Given the description of an element on the screen output the (x, y) to click on. 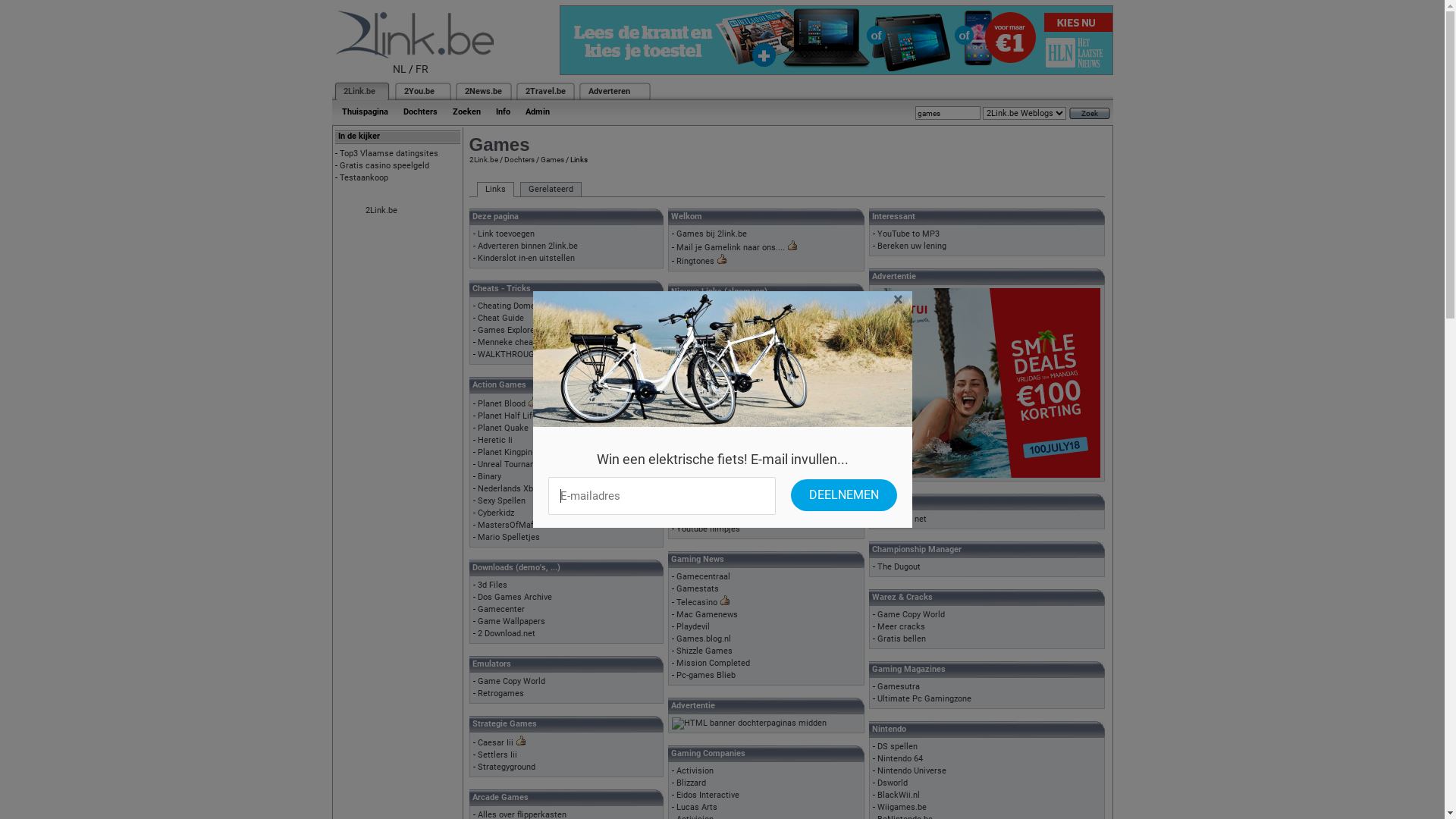
FR Element type: text (421, 68)
Games downloaden Element type: text (713, 393)
Binary Element type: text (489, 476)
Games bij 2link.be Element type: text (711, 233)
Speel Spelletjes.nl Element type: text (711, 504)
Caesar Iii Element type: text (495, 742)
Planet Half Life Element type: text (506, 415)
GameVillage Element type: text (700, 308)
Sexy Spellen Element type: text (501, 500)
Youtube filmpjes Element type: text (708, 528)
Heretic Ii Element type: text (494, 440)
Planet Quake Element type: text (502, 428)
Ringtones Element type: text (695, 261)
Gerelateerd Element type: text (550, 189)
Shizzle Games Element type: text (704, 650)
WALKTHROUGH Element type: text (508, 354)
Games.blog.nl Element type: text (703, 638)
MastersOfMafia Element type: text (508, 525)
Blizzard Element type: text (691, 782)
Cheating Dome Element type: text (506, 305)
Spellekes Element type: text (694, 345)
Eidos Interactive Element type: text (707, 795)
Activision Element type: text (694, 770)
Gamesutra Element type: text (898, 686)
Nintendo Universe Element type: text (911, 770)
Games Explorer! Element type: text (508, 330)
BlackWii.nl Element type: text (898, 795)
Game Wallpapers Element type: text (511, 621)
Dochters Element type: text (420, 111)
2 Download.net Element type: text (506, 633)
Mail je Gamelink naar ons.... Element type: text (730, 247)
ZigiZ Element type: text (686, 333)
Gamecentraal Element type: text (703, 576)
Playdevil Element type: text (692, 626)
Mac Gamenews Element type: text (706, 614)
NL Element type: text (399, 68)
Links Element type: text (494, 189)
Dochters Element type: text (518, 159)
Strategyground Element type: text (506, 766)
Leuke Spelletjes Element type: text (707, 516)
Lucas Arts Element type: text (696, 807)
Planet Blood Element type: text (501, 403)
Gametopia Element type: text (697, 357)
The Dugout Element type: text (898, 566)
Nederlands Xbox Forum Element type: text (522, 488)
2Link.be Element type: text (482, 159)
Gamecenter Element type: text (500, 609)
2News.be Element type: text (482, 91)
Mario Spelletjes Element type: text (508, 537)
Gratis spellekes Element type: text (707, 418)
3d Files Element type: text (492, 584)
Pc-games Blieb Element type: text (705, 675)
Dos Games Archive Element type: text (514, 597)
2You.be Element type: text (418, 91)
sponsbob Element type: text (694, 321)
Menneke cheats Element type: text (508, 342)
New Grounds Element type: text (701, 456)
Cyberkidz Element type: text (495, 512)
Cheat Guide Element type: text (500, 318)
Telecasino Element type: text (696, 602)
Unreal Tournament Element type: text (513, 464)
Gratis casino speelgeld Element type: text (384, 165)
Info Element type: text (502, 111)
Thuispagina Element type: text (364, 111)
Ultimate Pc Gamingzone Element type: text (924, 698)
Retrogames Element type: text (500, 693)
Zoeken Element type: text (465, 111)
Wiigames.be Element type: text (901, 807)
Gratis Spelletjes Spelen Element type: text (722, 430)
Kinderslot in-en uitstellen Element type: text (525, 258)
Settlers Iii Element type: text (497, 754)
Adverteren binnen 2link.be Element type: text (527, 246)
2Link.be Element type: text (381, 210)
Link toevoegen Element type: text (505, 233)
Testaankoop Element type: text (363, 177)
Bubbleget game Element type: text (706, 369)
Sexspellen Element type: text (696, 480)
Adverteren Element type: text (609, 91)
2Link.be Element type: text (358, 91)
Dsworld Element type: text (892, 782)
Gamestats Element type: text (697, 588)
YouTube to MP3 Element type: text (908, 233)
Game Copy World Element type: text (910, 614)
2Travel.be Element type: text (544, 91)
Gratis bellen Element type: text (901, 638)
Zoek Element type: text (1089, 113)
Meer cracks Element type: text (901, 626)
Nintendo 64 Element type: text (899, 758)
Games Element type: text (551, 159)
Game Copy World Element type: text (511, 681)
Admin Element type: text (536, 111)
Top3 Vlaamse datingsites Element type: text (388, 153)
1001spelletjes.be Element type: text (709, 492)
Kinderpleintje! Element type: text (703, 381)
Fifa 2000 net Element type: text (901, 519)
Gratis Games Element type: text (702, 468)
Gratis Games Element type: text (702, 443)
Leuke spelletjes Element type: text (707, 406)
Planet Kingpin Element type: text (504, 452)
DS spellen Element type: text (897, 746)
Mission Completed Element type: text (712, 663)
Bereken uw lening Element type: text (911, 246)
